Given the description of an element on the screen output the (x, y) to click on. 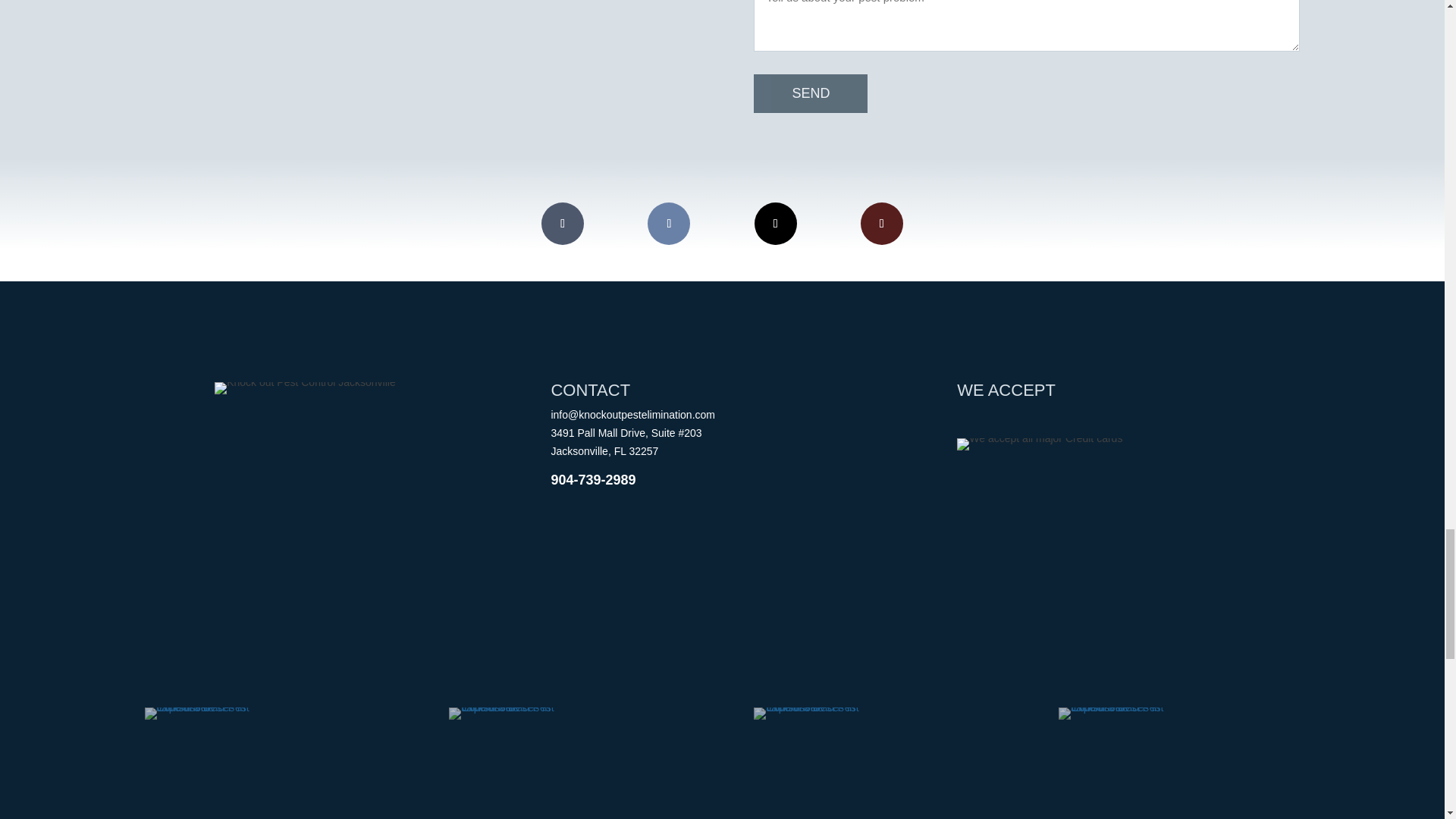
cc2 (1039, 444)
Follow on Facebook (562, 223)
expertise-best-pest-control (820, 712)
Follow on Yelp (881, 223)
expertise-best-pest-control (514, 712)
Follow on Google (668, 223)
Knock out Pest Control Jacksonville (305, 387)
Send (810, 93)
expertise-best-pest-control (210, 712)
expertise-best-pest-control (1124, 712)
